Given the description of an element on the screen output the (x, y) to click on. 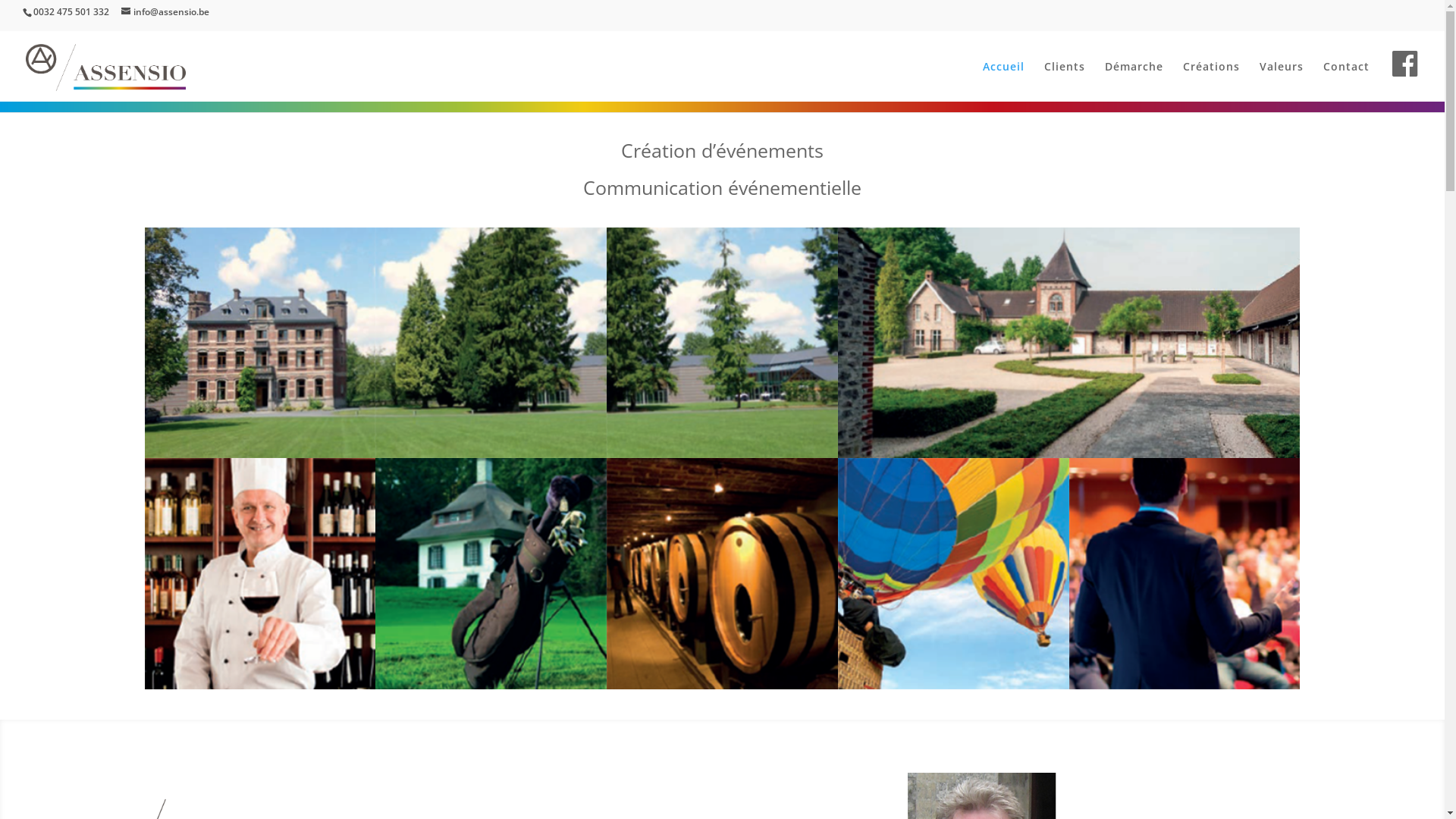
Fichier 17 Element type: hover (953, 453)
Fichier 7 Element type: hover (1184, 684)
Fichier 14 Element type: hover (259, 453)
Valeurs Element type: text (1281, 79)
Fichier 18 Element type: hover (1184, 453)
Fichier 15 Element type: hover (490, 453)
Contact Element type: text (1346, 79)
info@assensio.be Element type: text (165, 11)
Fichier 9 Element type: hover (490, 684)
facebook Element type: text (1405, 80)
Clients Element type: text (1064, 79)
Fichier 16 Element type: hover (721, 453)
Fichier 10 Element type: hover (259, 684)
Fichier 11 Element type: hover (953, 684)
Fichier 8 Element type: hover (721, 684)
Accueil Element type: text (1003, 79)
